Given the description of an element on the screen output the (x, y) to click on. 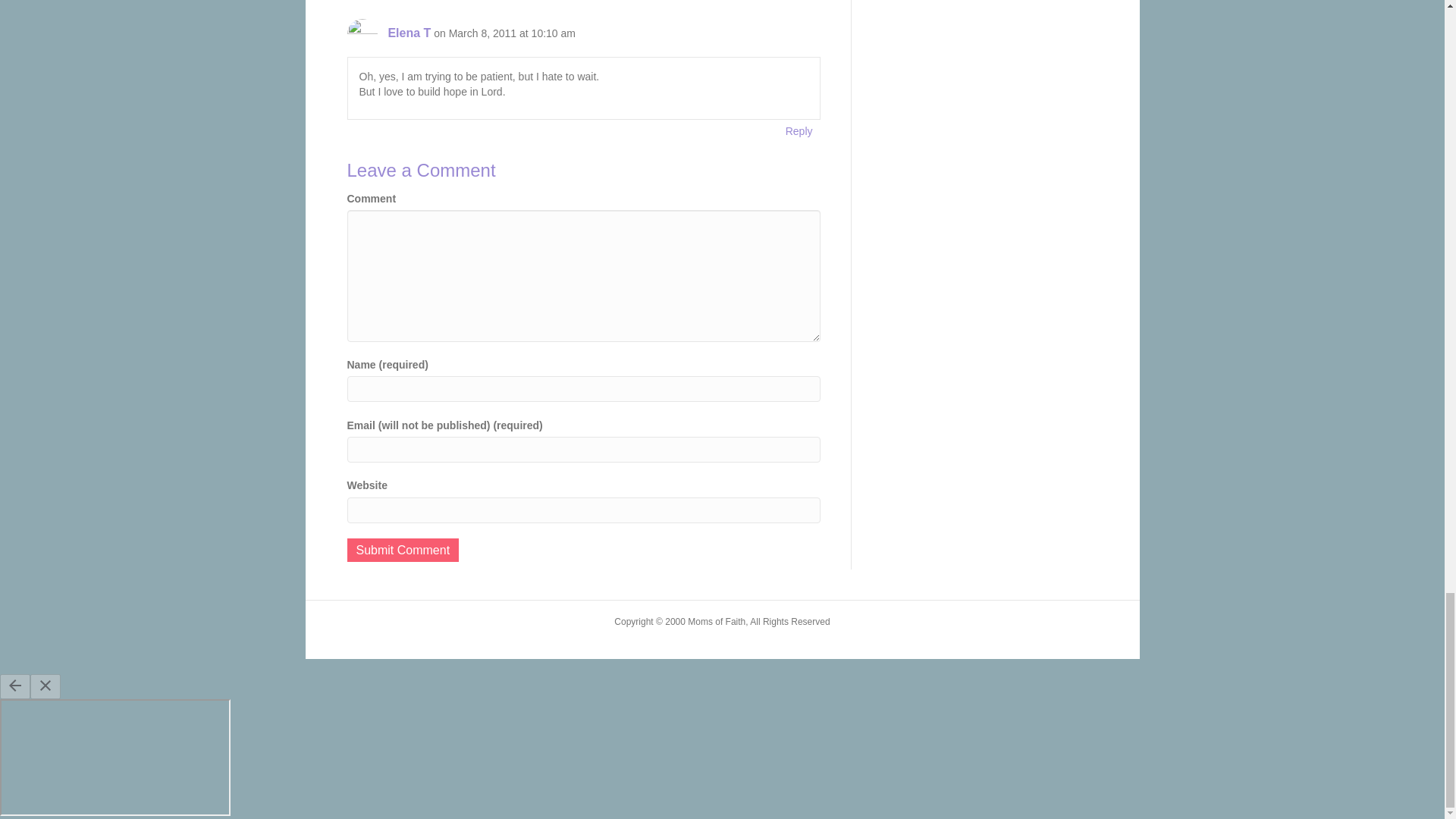
Submit Comment (403, 549)
